Given the description of an element on the screen output the (x, y) to click on. 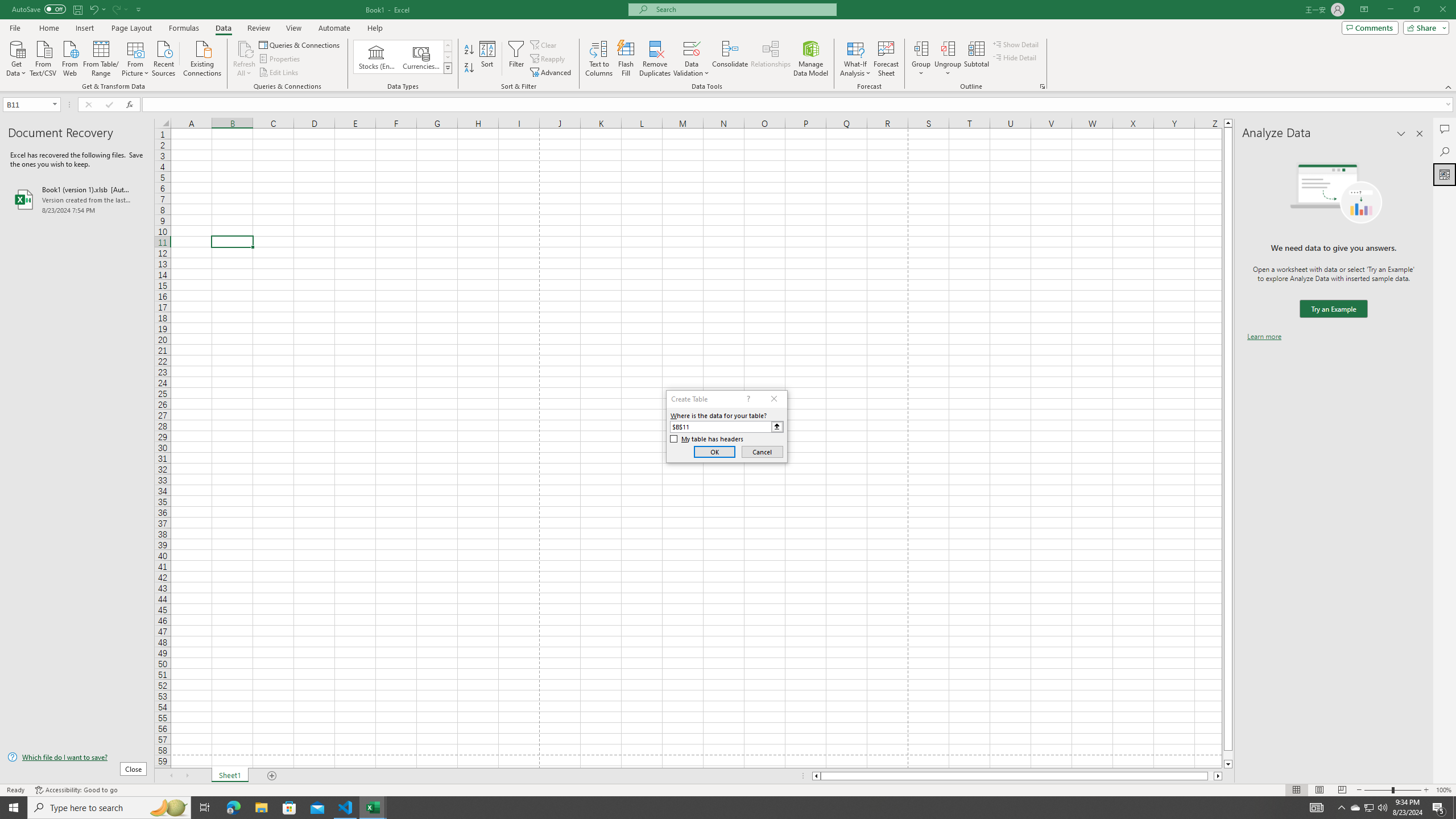
From Text/CSV (43, 57)
Sort... (487, 58)
Hide Detail (1014, 56)
Sort Z to A (469, 67)
